Given the description of an element on the screen output the (x, y) to click on. 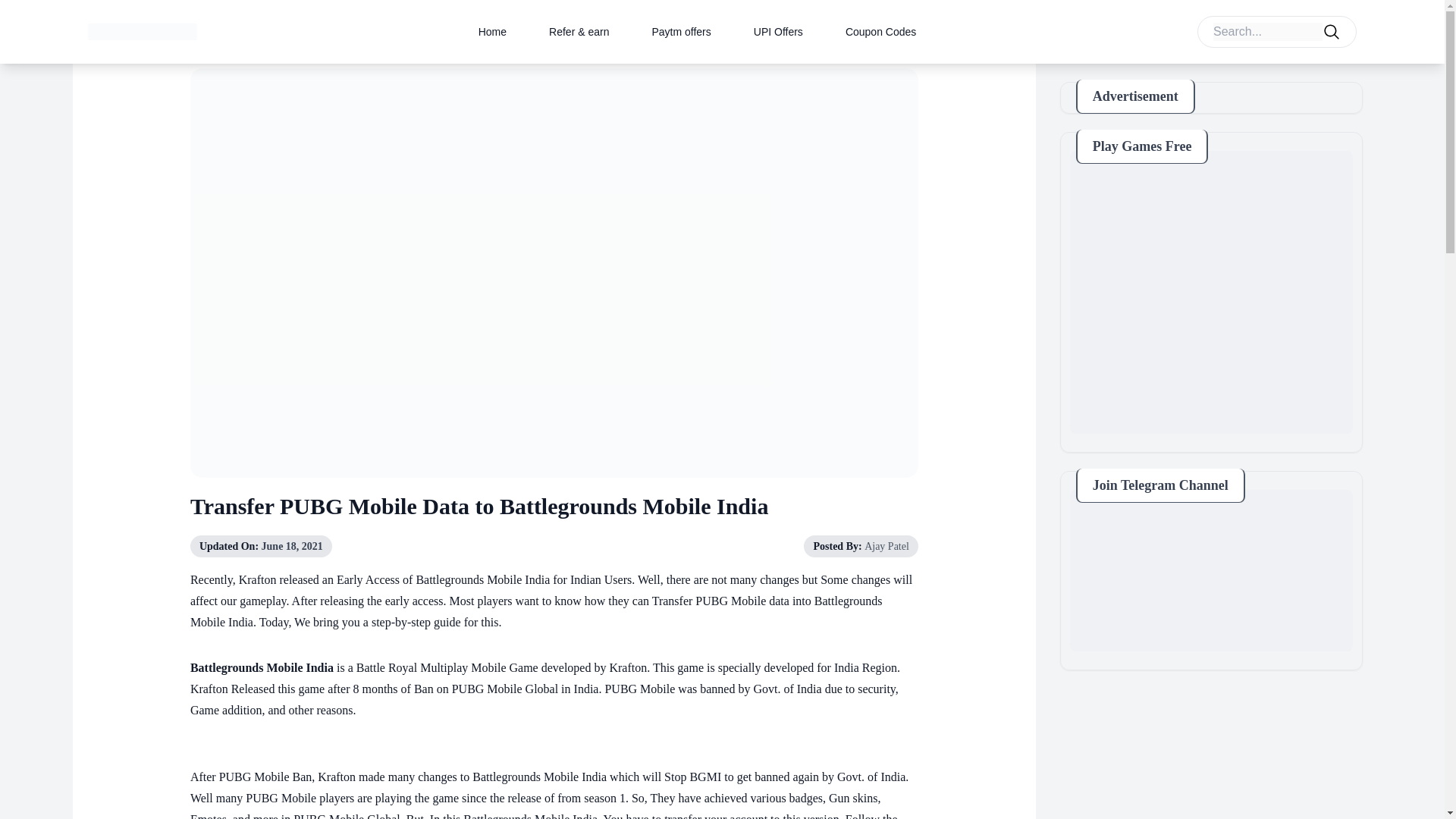
Join Our Telegram Channel (1211, 570)
Coupon Codes (880, 31)
UPI Offers (778, 31)
Paytm offers (680, 31)
Home (492, 31)
Play Games Free (1211, 292)
